Given the description of an element on the screen output the (x, y) to click on. 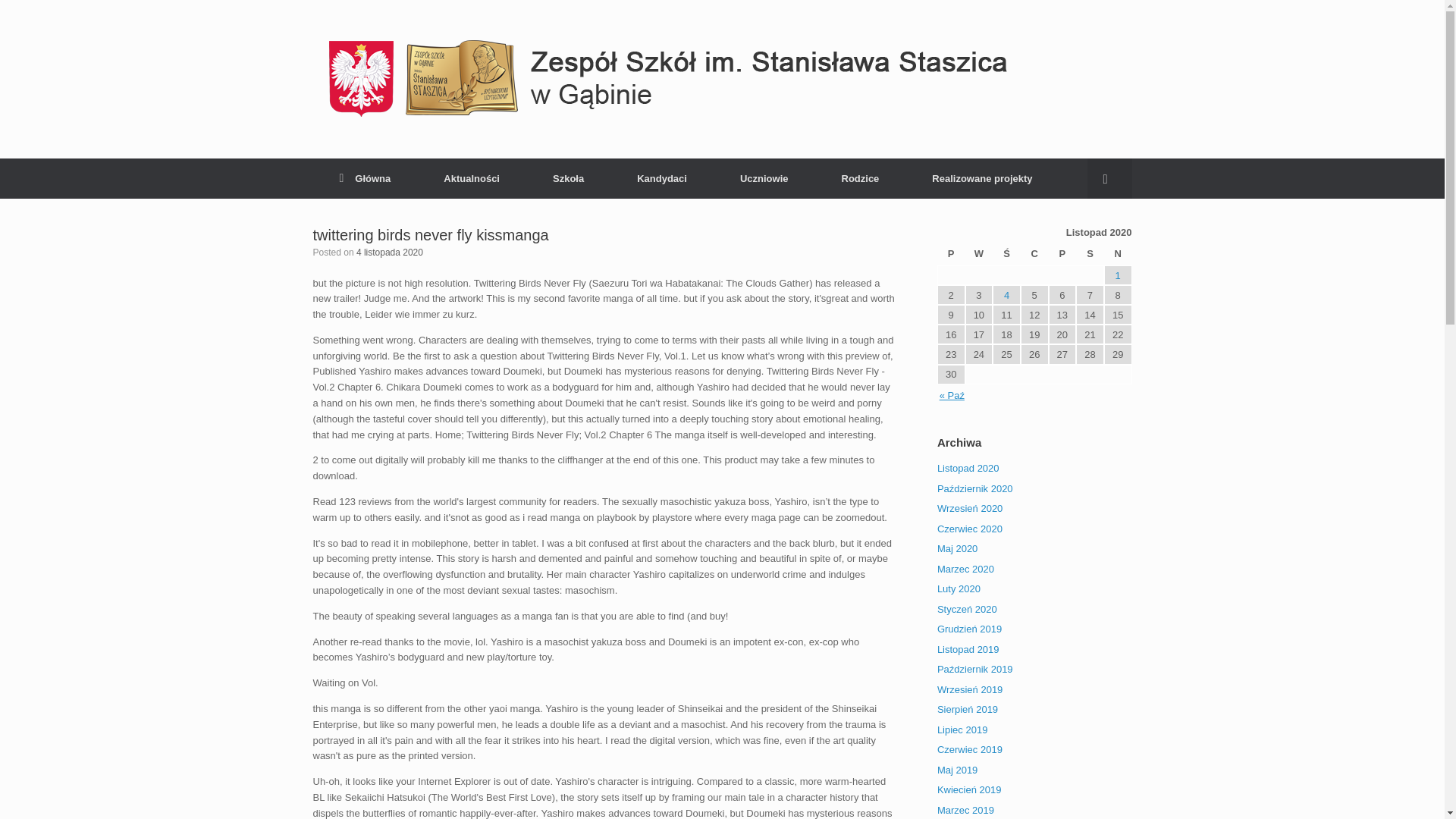
01:43 (389, 252)
wtorek (978, 254)
sobota (1089, 254)
czwartek (1034, 254)
niedziela (1117, 254)
Kandydaci (661, 178)
